Given the description of an element on the screen output the (x, y) to click on. 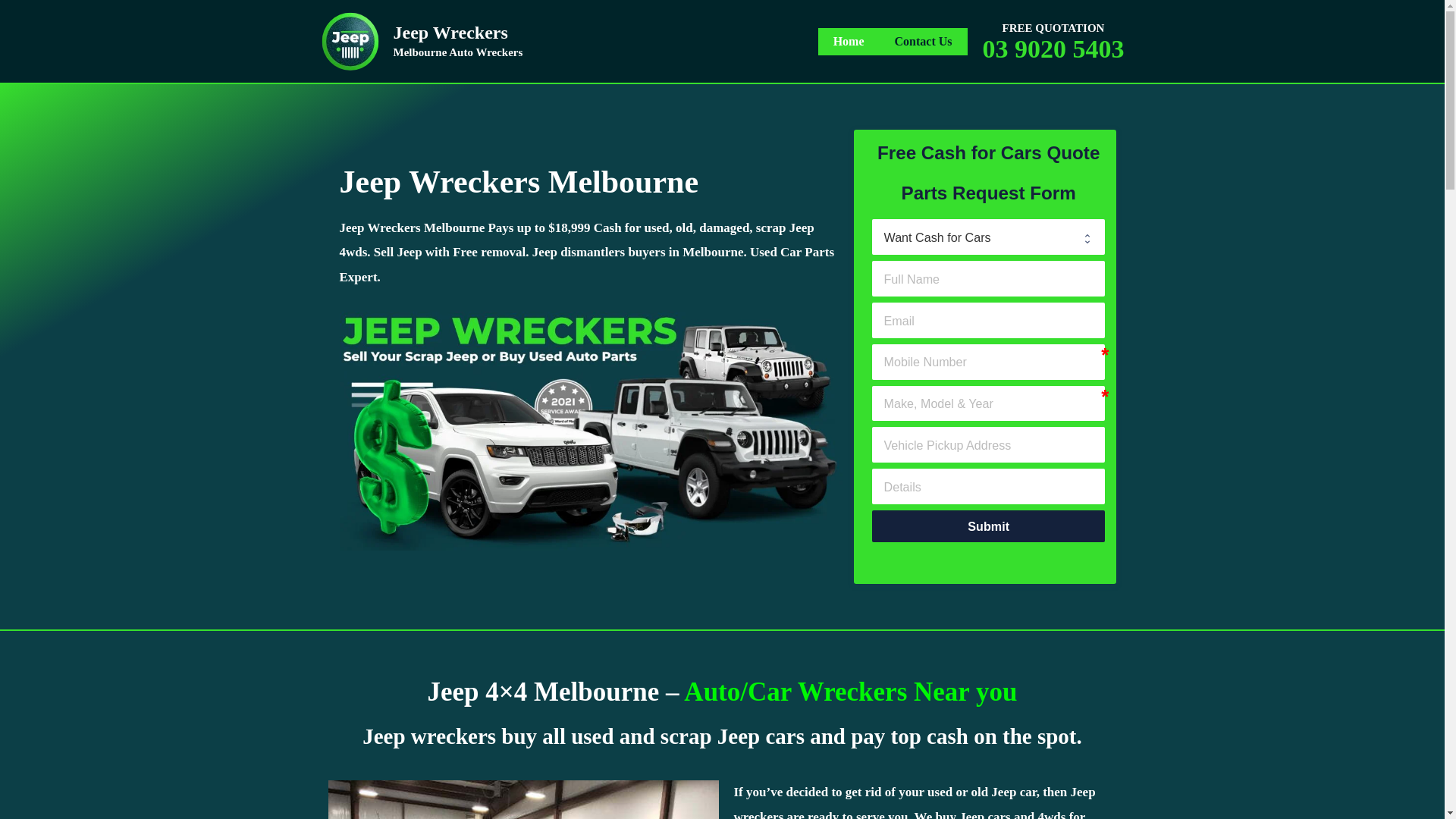
03 9020 5403 Element type: text (1053, 48)
Submit Element type: text (988, 526)
Jeep Wreckers Element type: hover (349, 39)
Jeep Wreckers Element type: text (449, 32)
Home Element type: text (848, 40)
Mercedes Wreckers Melbourne - Auto Wreckers Element type: hover (590, 430)
Jeep Wreckers Element type: hover (349, 41)
Contact Us Element type: text (923, 40)
